Given the description of an element on the screen output the (x, y) to click on. 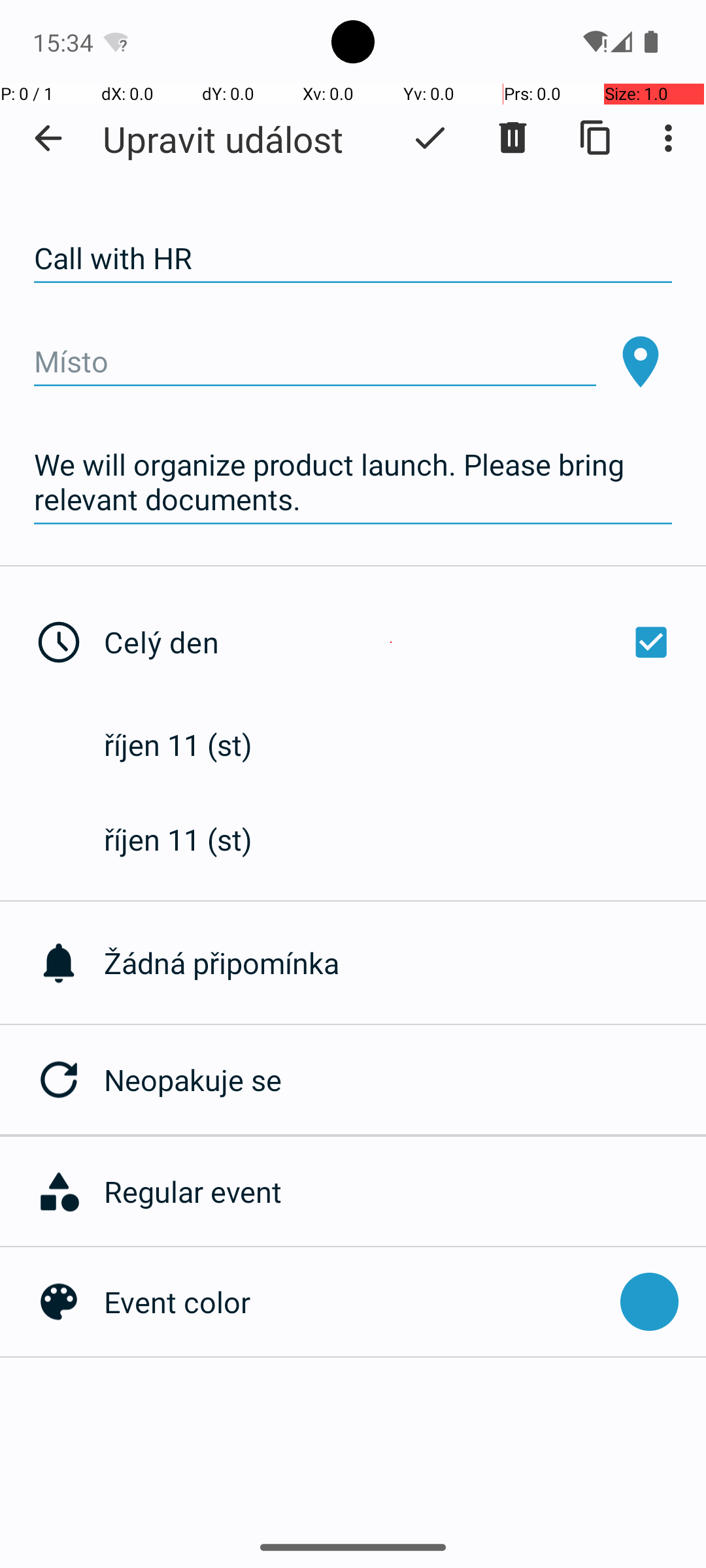
Upravit událost Element type: android.widget.TextView (222, 138)
Smazat Element type: android.widget.Button (512, 137)
Zkopírovat událost Element type: android.widget.Button (595, 137)
Místo Element type: android.widget.EditText (314, 361)
We will organize product launch. Please bring relevant documents. Element type: android.widget.EditText (352, 482)
říjen 11 (st) Element type: android.widget.TextView (191, 744)
Žádná připomínka Element type: android.widget.TextView (404, 962)
Neopakuje se Element type: android.widget.TextView (404, 1079)
